Given the description of an element on the screen output the (x, y) to click on. 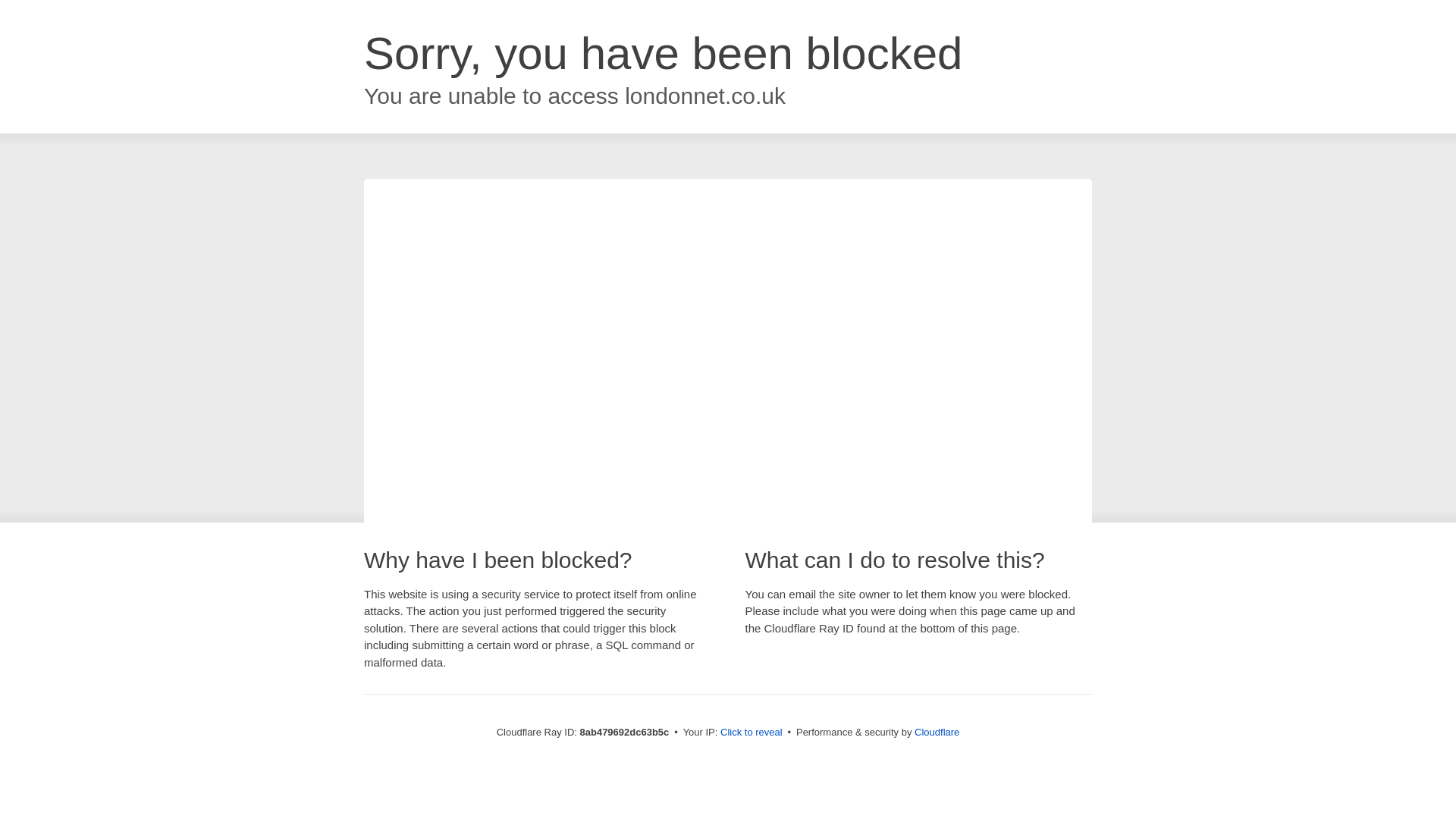
Cloudflare (936, 731)
Click to reveal (751, 732)
